Given the description of an element on the screen output the (x, y) to click on. 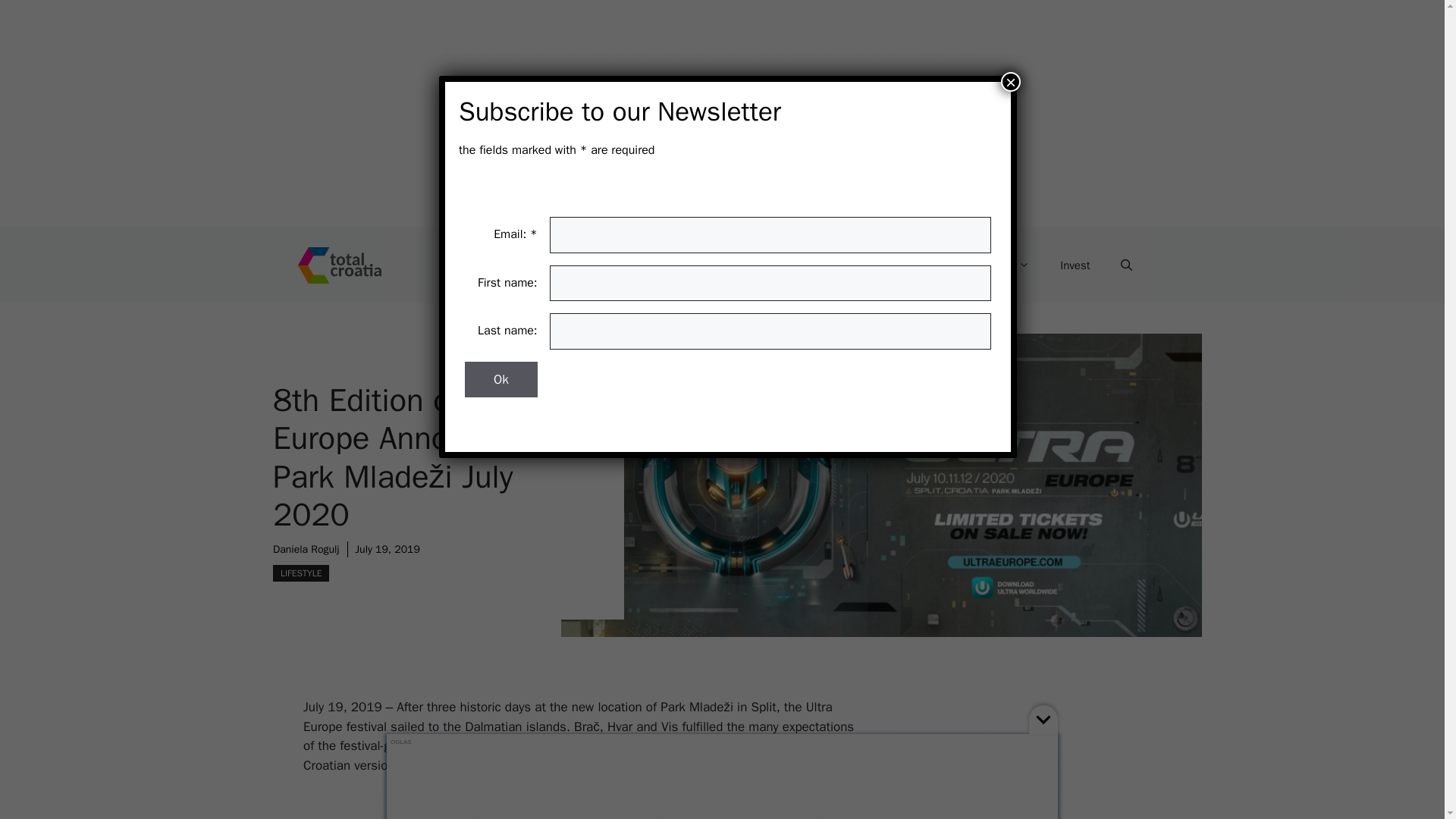
3rd party ad content (727, 785)
3rd party ad content (727, 113)
News (733, 265)
3rd party ad content (1015, 758)
Diaspora (998, 265)
Destinations (517, 265)
Wine (914, 265)
Ok (500, 379)
Invest (1075, 265)
How to Guides (634, 265)
Real estate (824, 265)
3rd party ad content (581, 806)
